Given the description of an element on the screen output the (x, y) to click on. 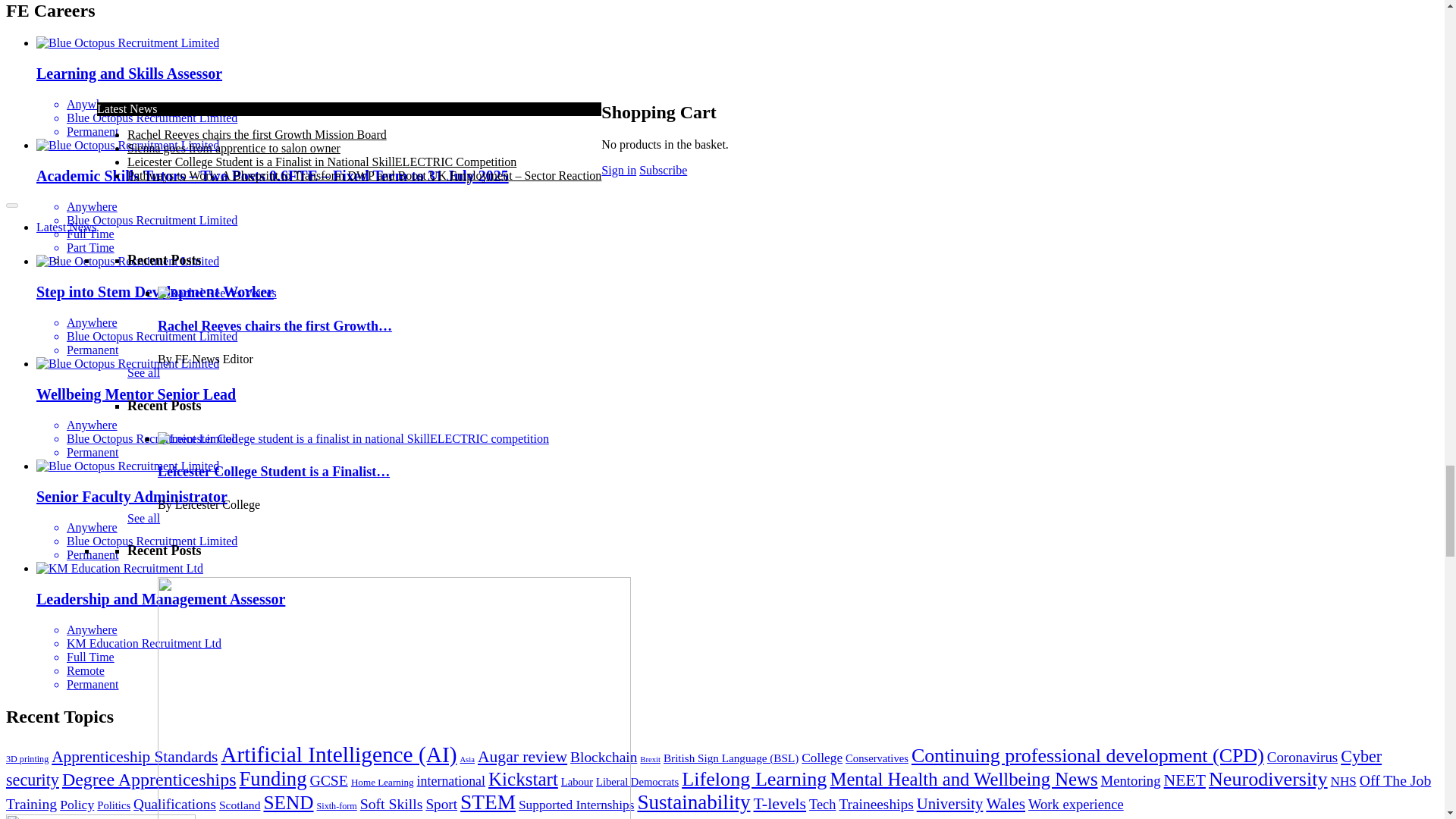
Permalink to Skilfully Speaking (393, 154)
